Given the description of an element on the screen output the (x, y) to click on. 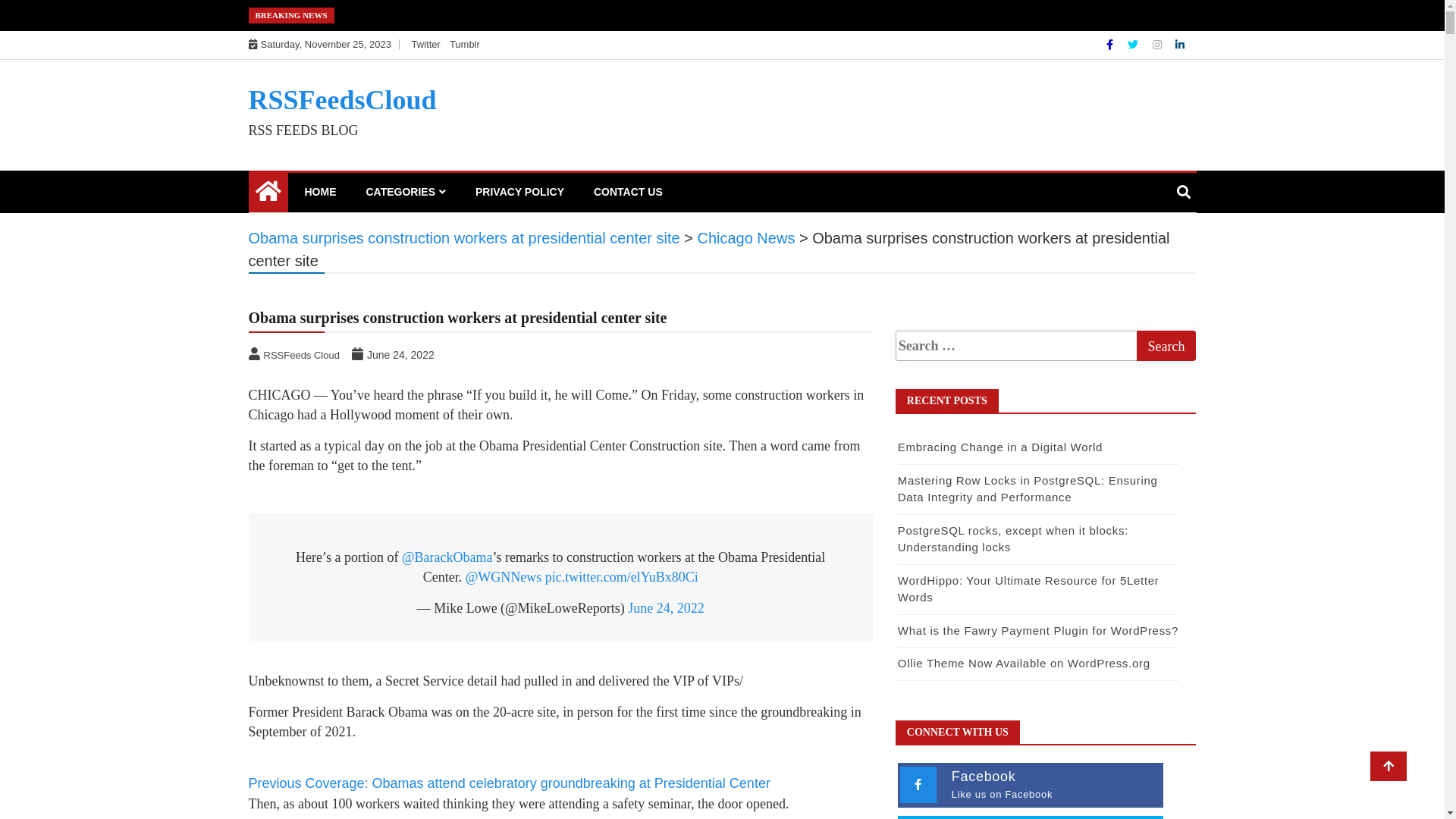
RSSFeeds Cloud Element type: text (295, 354)
Chicago News Element type: text (745, 237)
CATEGORIES Element type: text (406, 191)
June 24, 2022 Element type: text (665, 607)
WordHippo: Your Ultimate Resource for 5Letter Words Element type: text (1028, 589)
PRIVACY POLICY Element type: text (519, 191)
Facebook
Like us on Facebook Element type: text (1030, 786)
Ollie Theme Now Available on WordPress.org Element type: text (1023, 662)
@WGNNews Element type: text (503, 576)
Twitter Element type: hover (1134, 44)
Tumblr Element type: text (464, 44)
Twitter Element type: text (425, 44)
June 24, 2022 Element type: text (394, 354)
CONTACT US Element type: text (628, 191)
Instagram Element type: hover (1158, 44)
Search Element type: text (1165, 345)
Facebook Element type: hover (1111, 44)
Linkdin Element type: hover (1179, 44)
RSSFeedsCloud Element type: text (342, 99)
What is the Fawry Payment Plugin for WordPress? Element type: text (1037, 630)
pic.twitter.com/elYuBx80Ci Element type: text (621, 576)
Embracing Change in a Digital World Element type: text (999, 446)
PostgreSQL rocks, except when it blocks: Understanding locks Element type: text (1012, 539)
@BarackObama Element type: text (446, 556)
HOME Element type: text (319, 191)
